Given the description of an element on the screen output the (x, y) to click on. 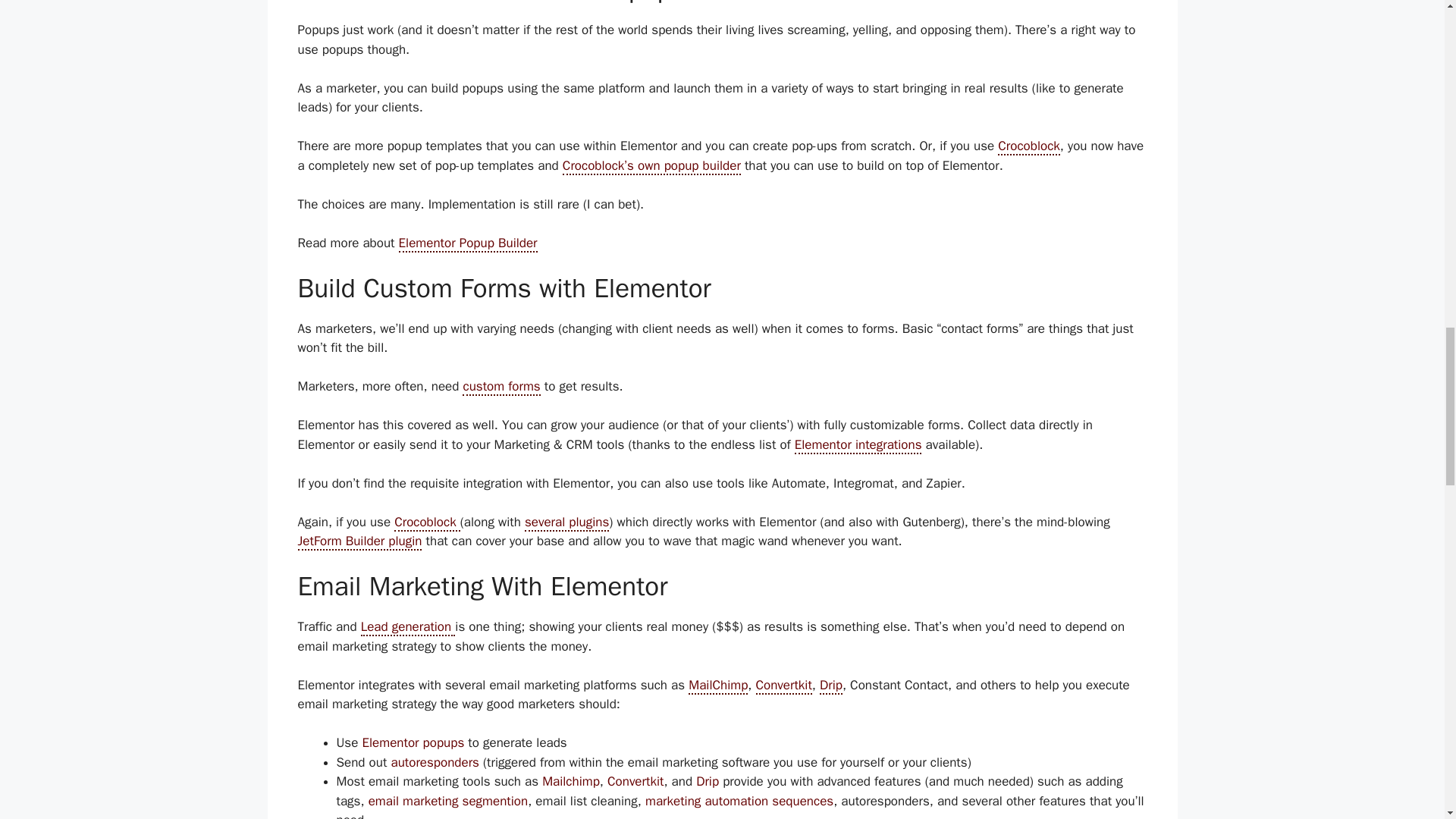
Crocoblock (427, 522)
Convertkit (782, 685)
Drip (831, 685)
autoresponders (434, 762)
MailChimp (718, 685)
Mailchimp (570, 781)
Crocoblock (1028, 146)
JetForm Builder plugin (359, 541)
Elementor popups (412, 742)
custom forms (501, 386)
